Given the description of an element on the screen output the (x, y) to click on. 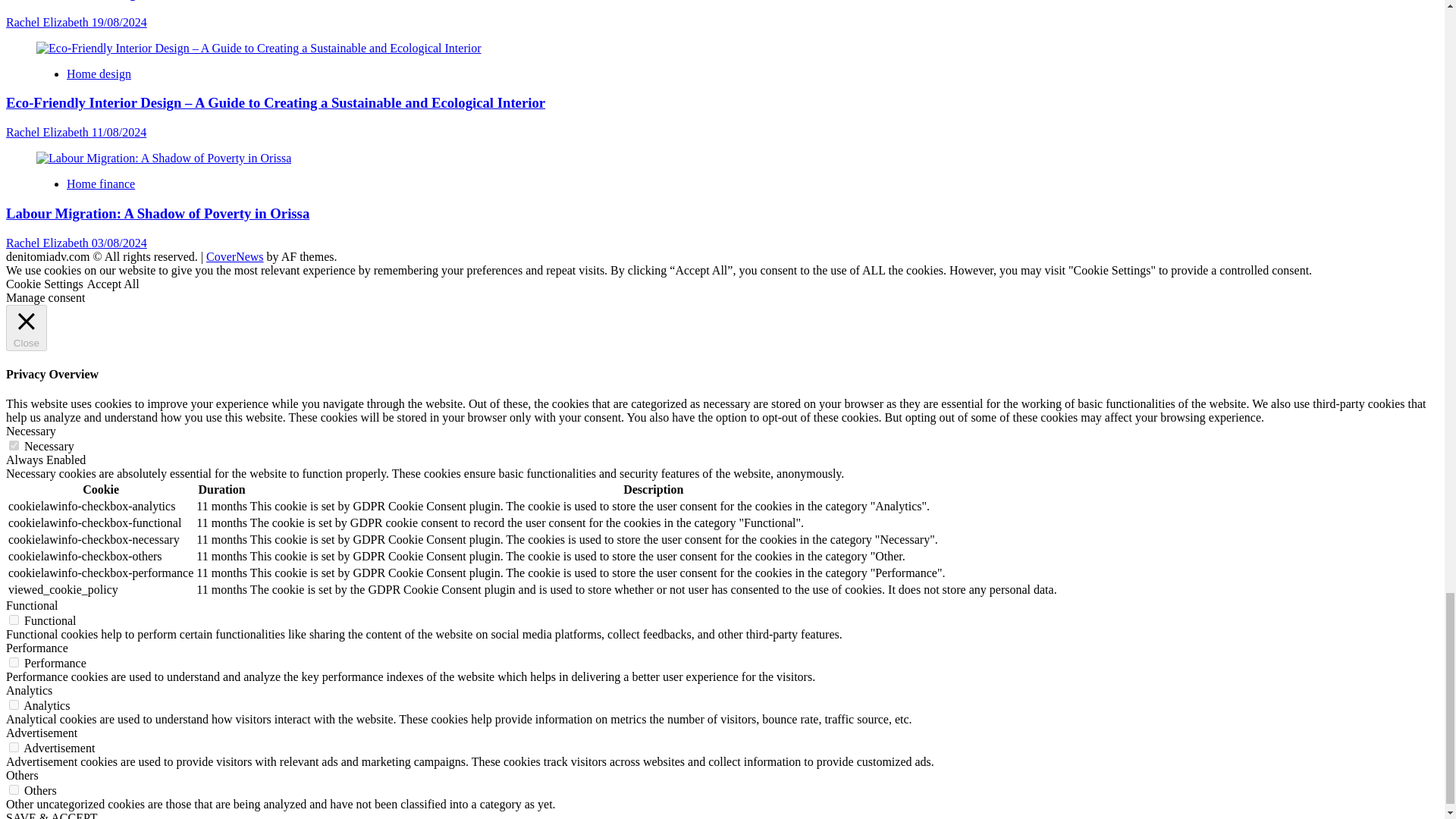
on (13, 445)
Labour Migration: A Shadow of Poverty in Orissa (163, 158)
on (13, 619)
on (13, 747)
on (13, 705)
on (13, 789)
on (13, 662)
